Given the description of an element on the screen output the (x, y) to click on. 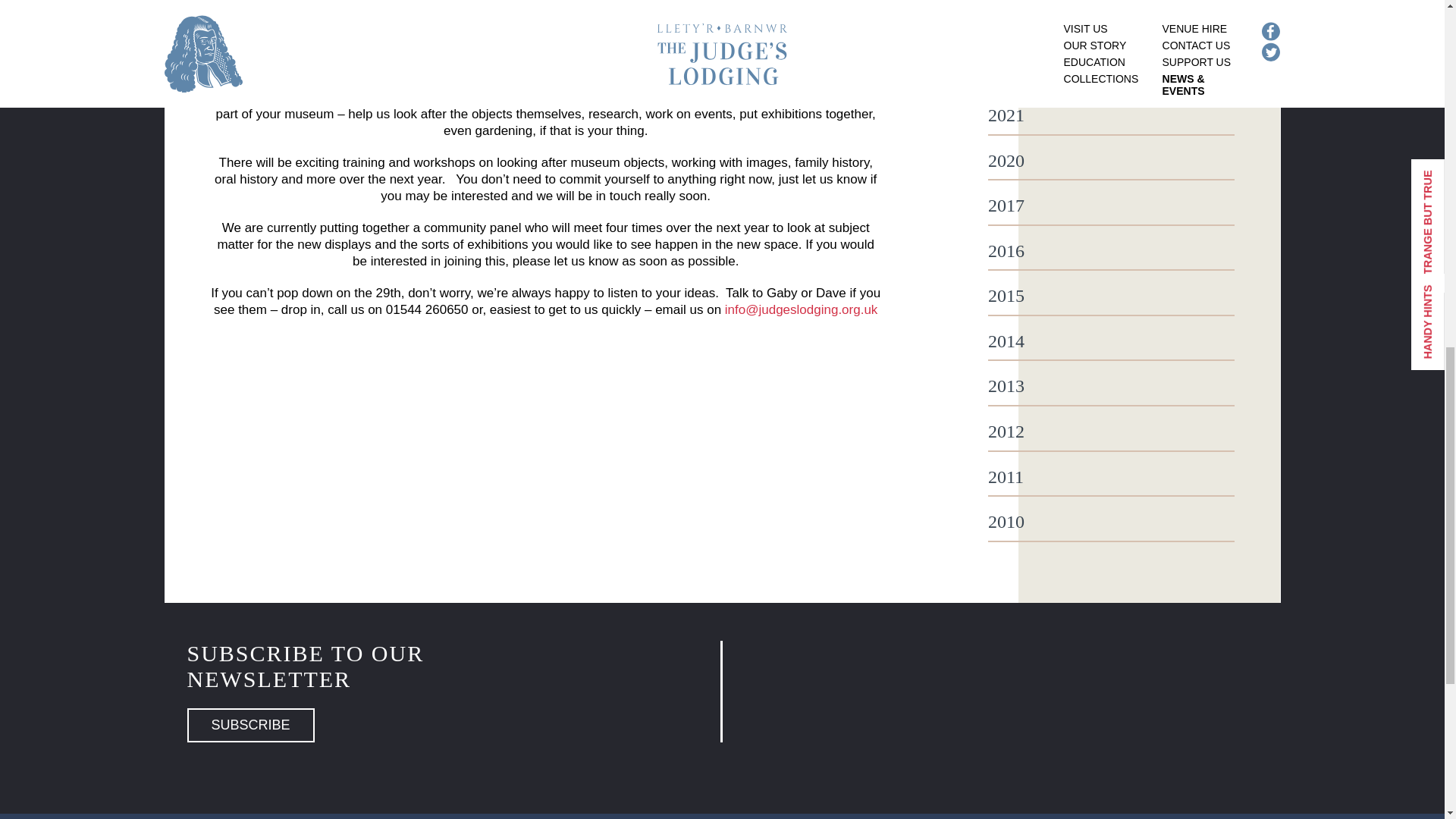
2023 (1111, 25)
2015 (1111, 296)
2016 (1111, 251)
2017 (1111, 206)
2014 (1111, 341)
2021 (1111, 115)
2010 (1111, 522)
2011 (1111, 477)
2020 (1111, 160)
2012 (1111, 432)
